Given the description of an element on the screen output the (x, y) to click on. 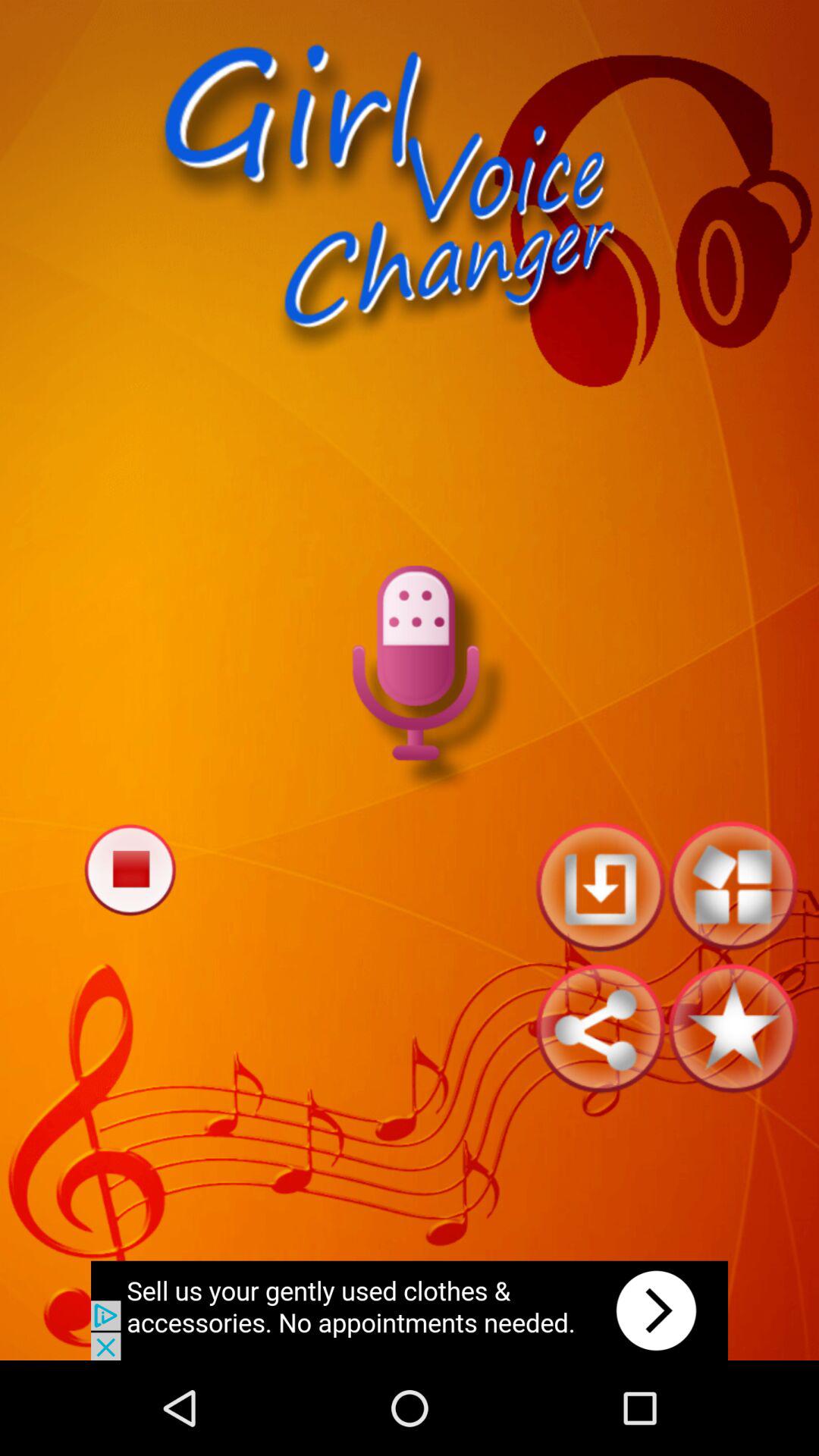
record audio option (409, 679)
